Given the description of an element on the screen output the (x, y) to click on. 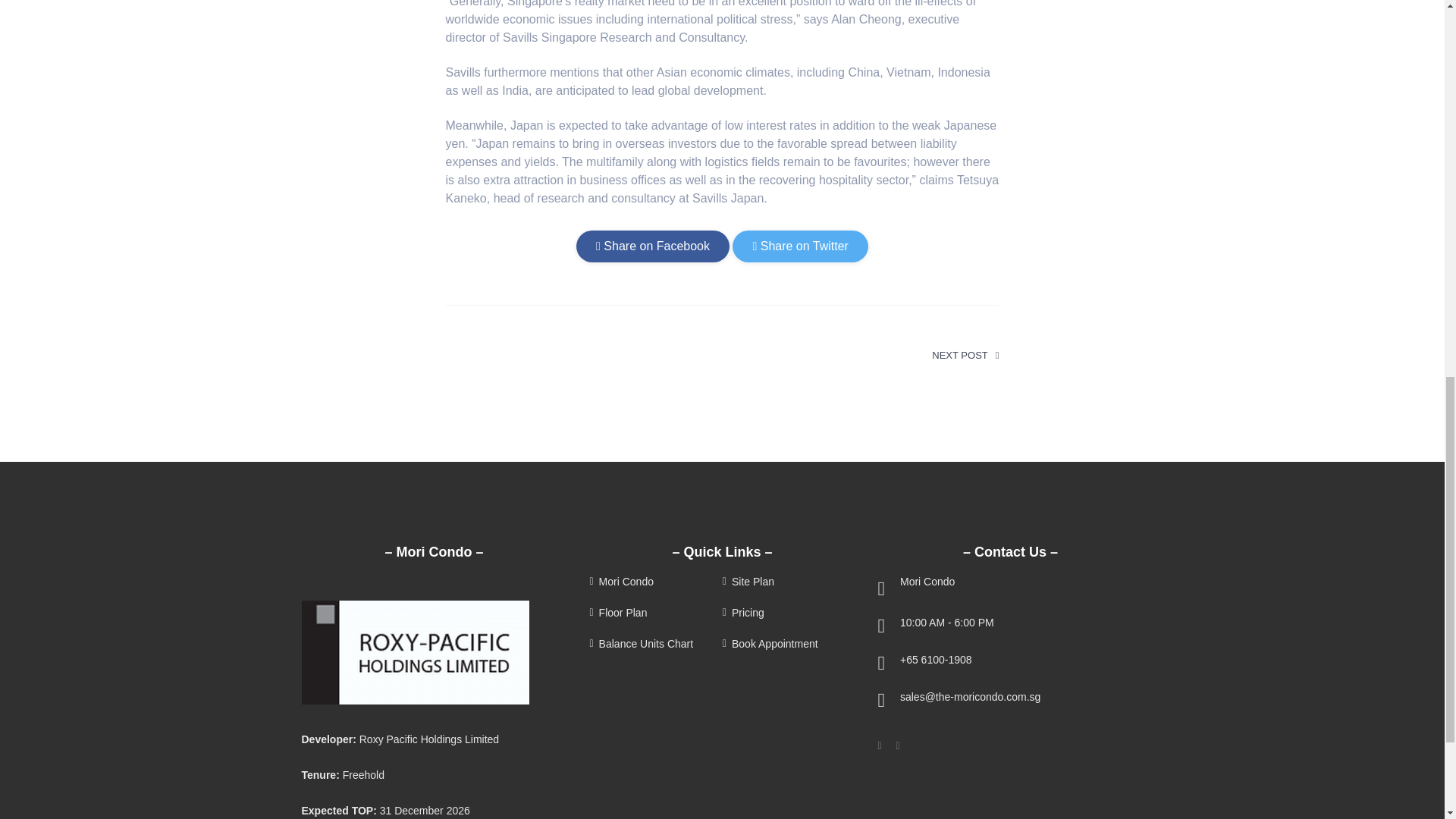
Share on Twitter (799, 246)
Pricing (786, 612)
Share on Facebook (652, 246)
Balance Units Chart (654, 644)
Mori Condo (654, 581)
Site Plan (786, 581)
NEXT POST (964, 355)
Floor Plan (654, 612)
